Given the description of an element on the screen output the (x, y) to click on. 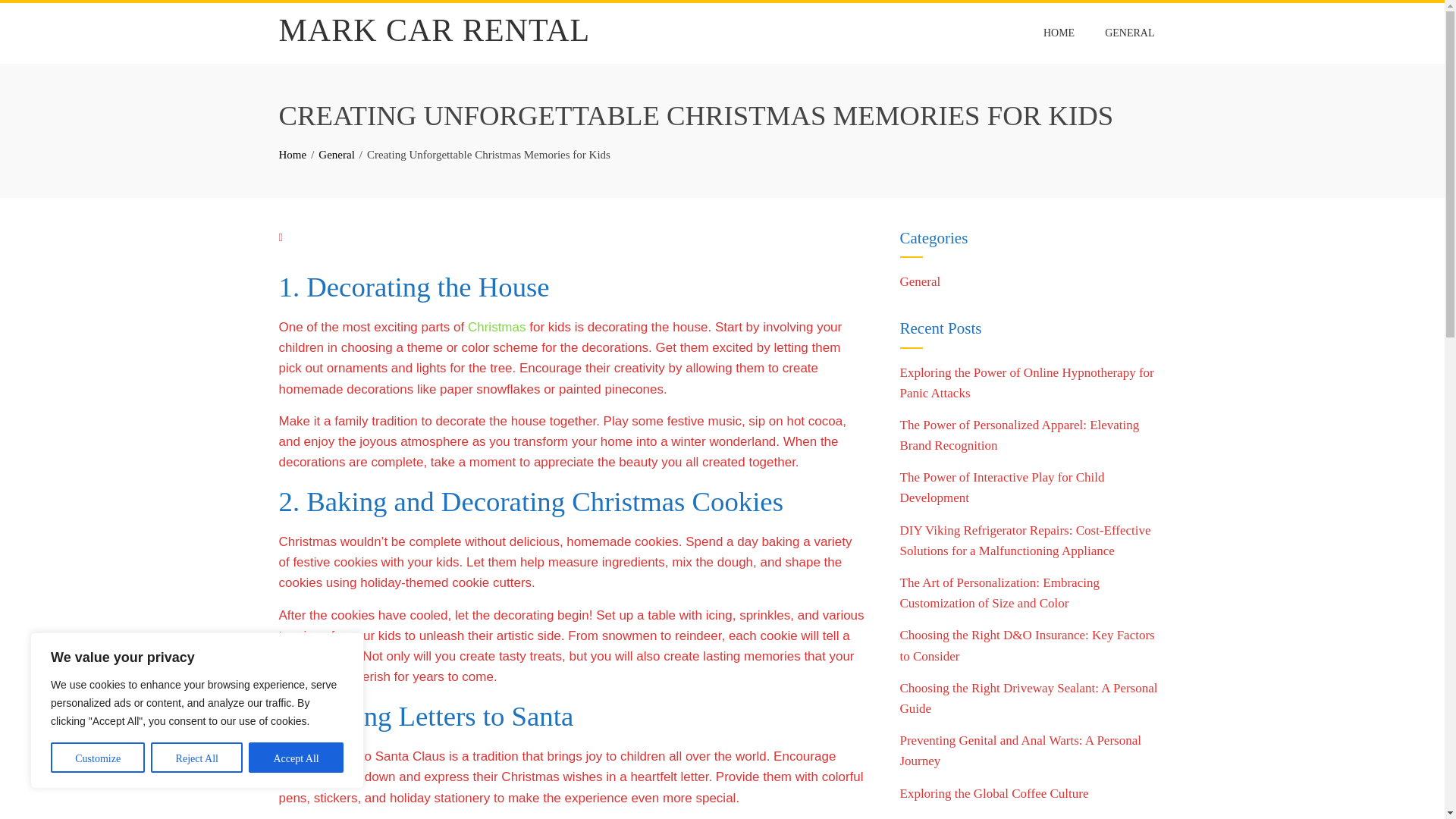
Exploring the Global Coffee Culture (993, 793)
GENERAL (1129, 32)
Writing letters (318, 756)
Christmas (496, 327)
Home (293, 154)
HOME (1059, 32)
Exploring the Power of Online Hypnotherapy for Panic Attacks (1026, 382)
Choosing the Right Driveway Sealant: A Personal Guide (1028, 697)
General (919, 281)
MARK CAR RENTAL (435, 30)
Accept All (295, 757)
General (335, 154)
